Given the description of an element on the screen output the (x, y) to click on. 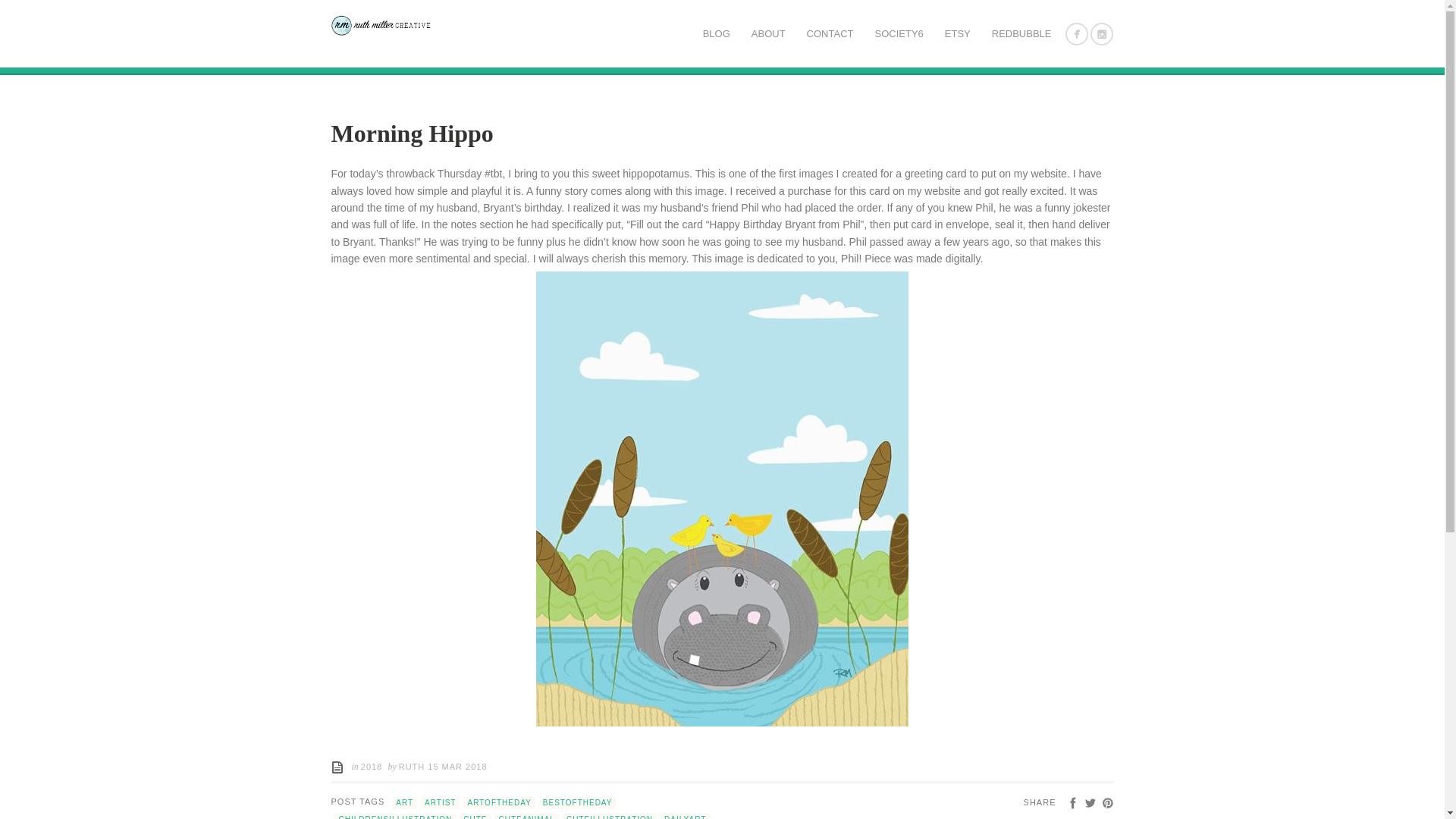
ARTOFTHEDAY (498, 802)
2018 (371, 766)
CHILDRENSILLUSTRATION (395, 816)
CUTEANIMAL (526, 816)
Twitter (1090, 802)
Facebook (1071, 802)
RUTH (413, 766)
BESTOFTHEDAY (576, 802)
DAILYART (685, 816)
ABOUT (768, 34)
CUTEILLUSTRATION (609, 816)
BLOG (717, 34)
SOCIETY6 (898, 34)
Pinterest (1106, 802)
CONTACT (830, 34)
